Given the description of an element on the screen output the (x, y) to click on. 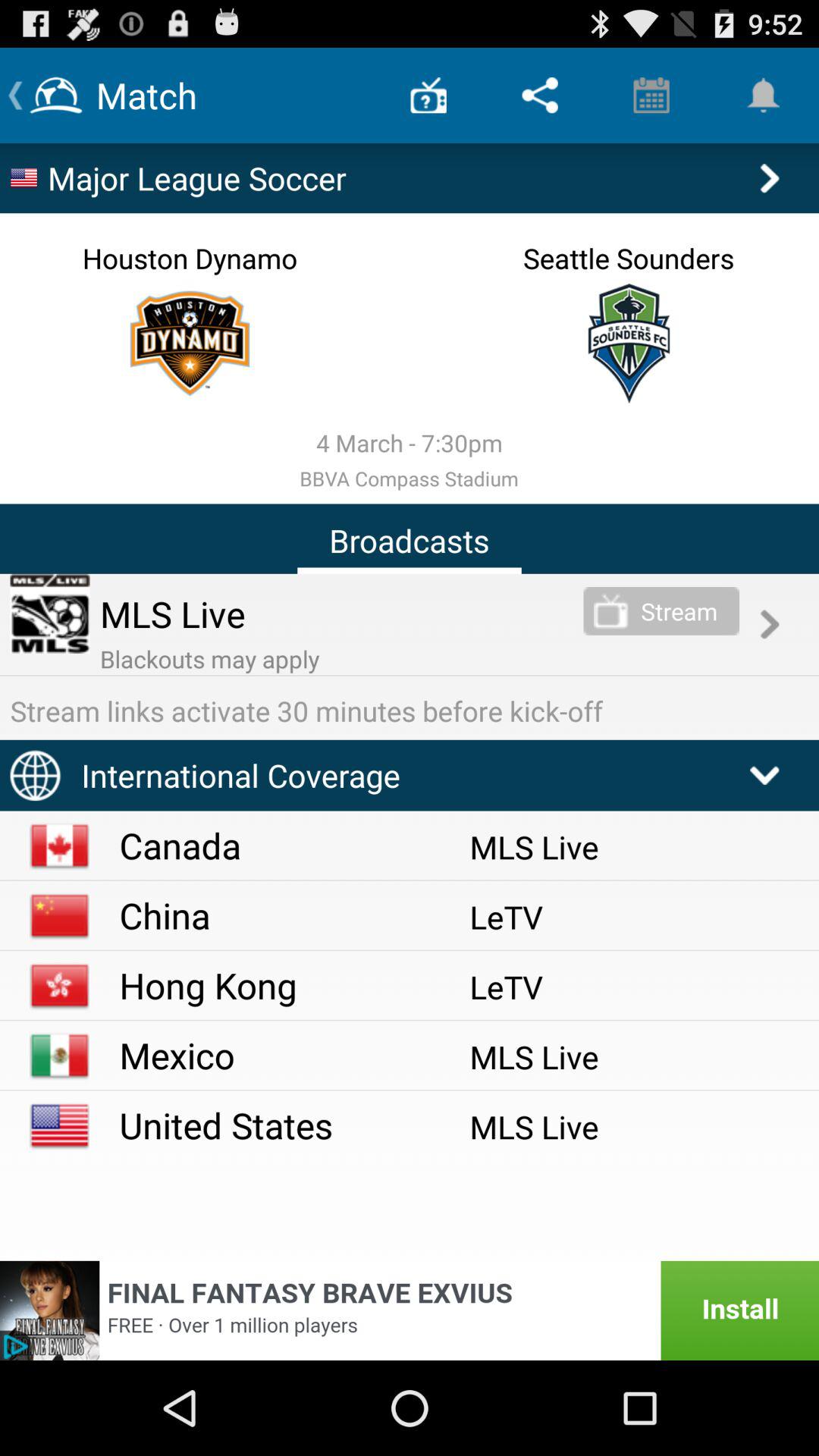
logo of the dynamo team (189, 343)
